Given the description of an element on the screen output the (x, y) to click on. 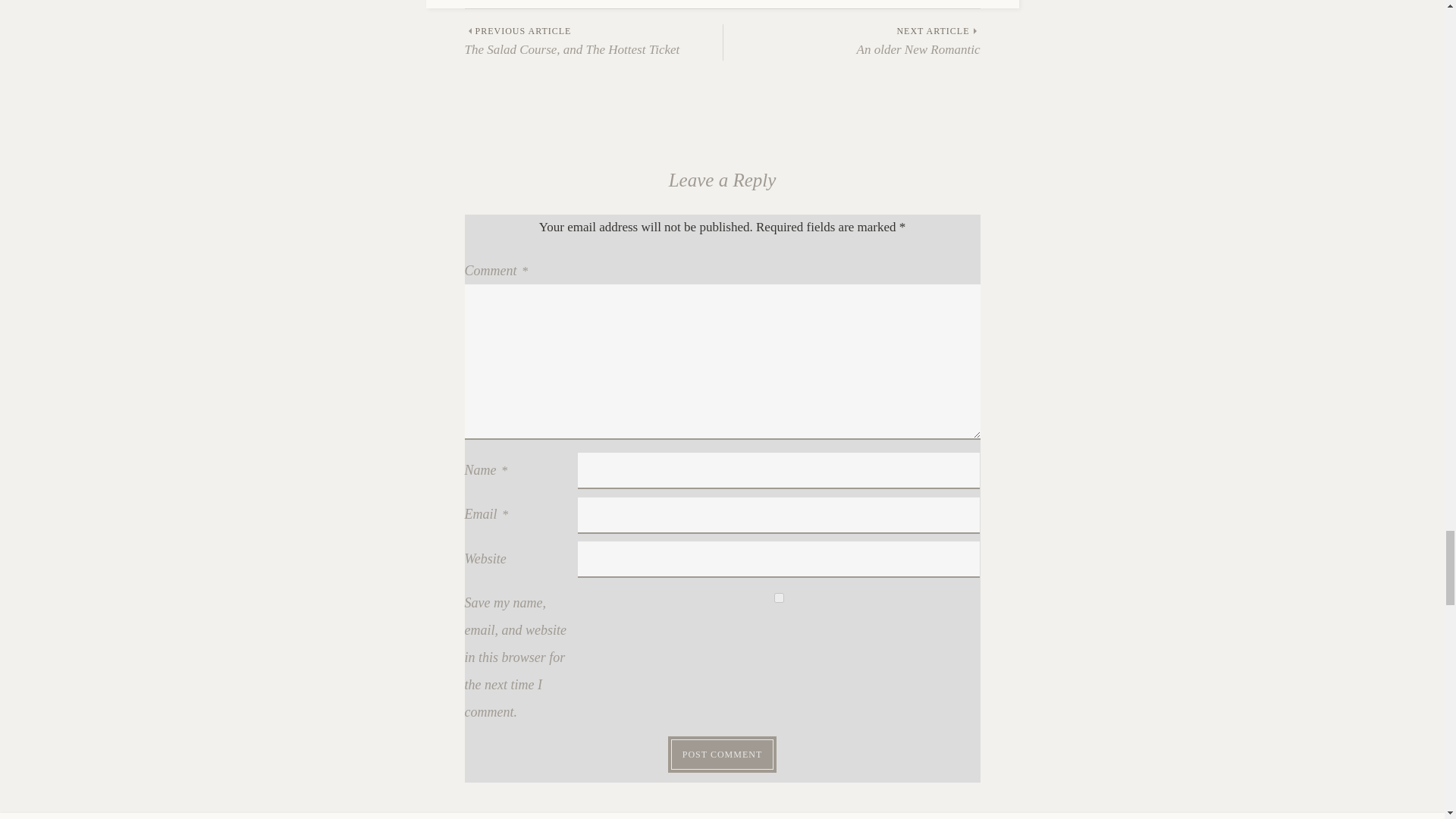
yes (779, 597)
Post Comment (593, 41)
Post Comment (851, 41)
